Given the description of an element on the screen output the (x, y) to click on. 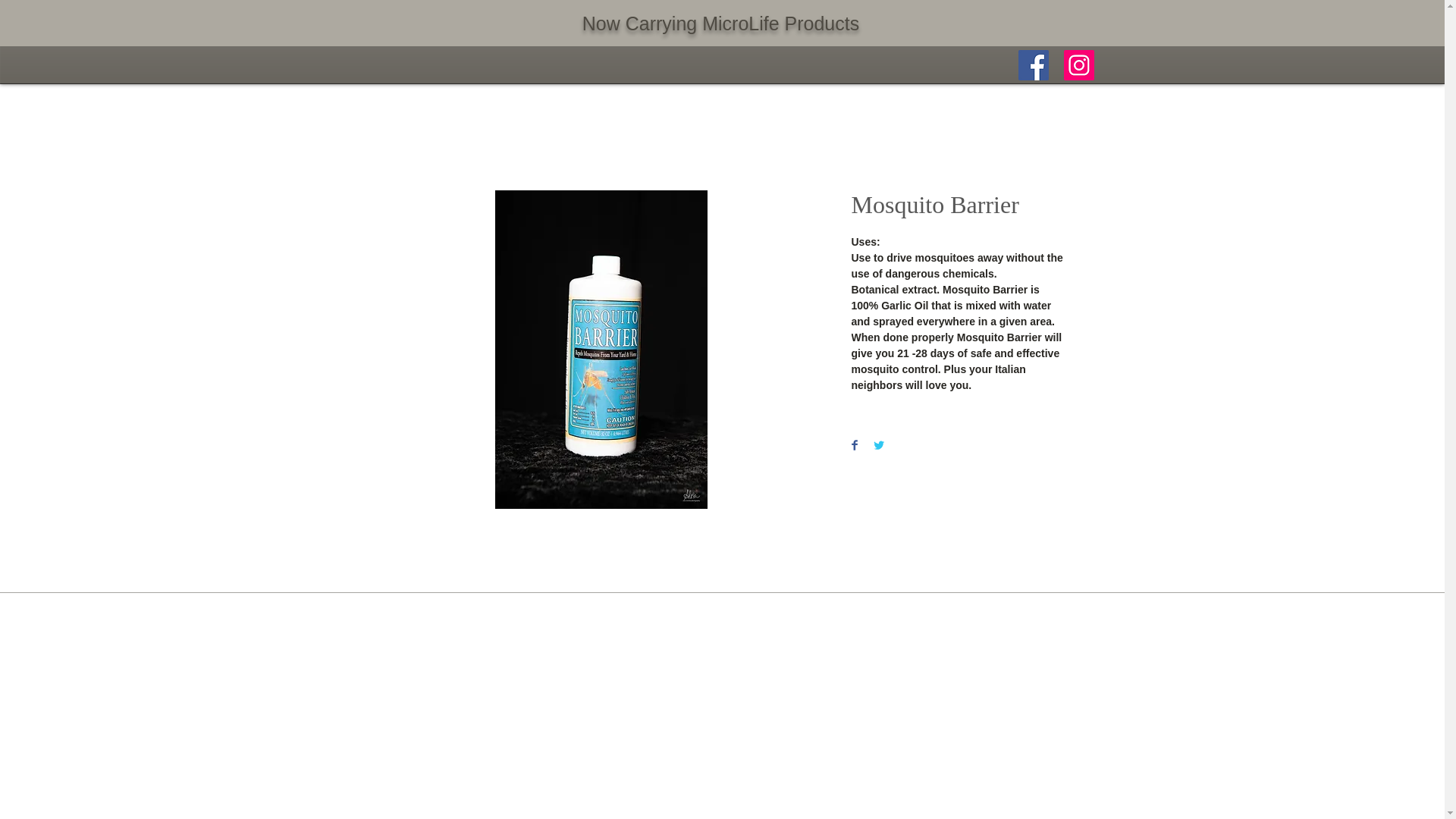
Now Carrying MicroLife Products (720, 23)
